Given the description of an element on the screen output the (x, y) to click on. 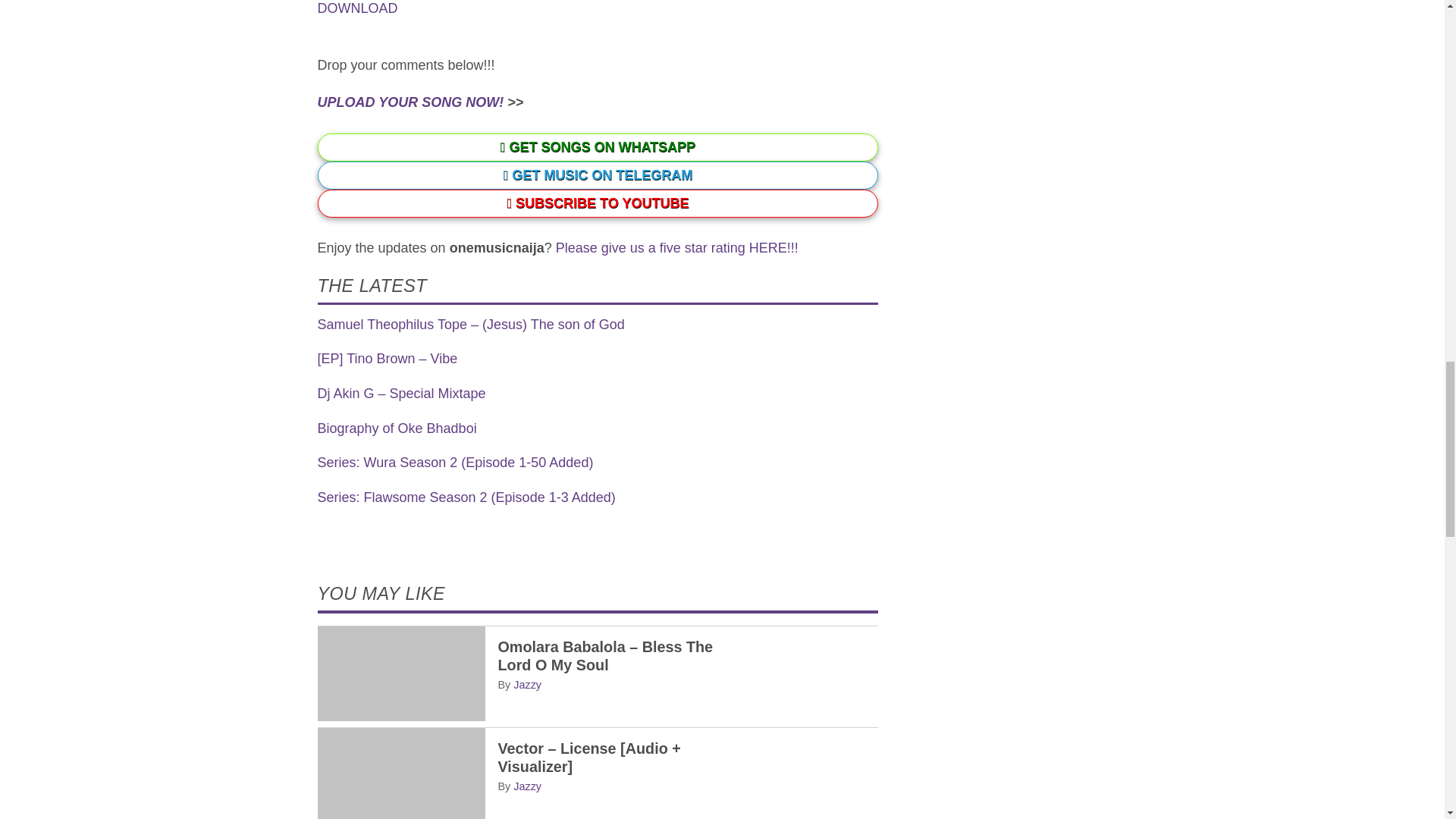
Posts by Jazzy (527, 684)
Posts by Jazzy (527, 786)
